Given the description of an element on the screen output the (x, y) to click on. 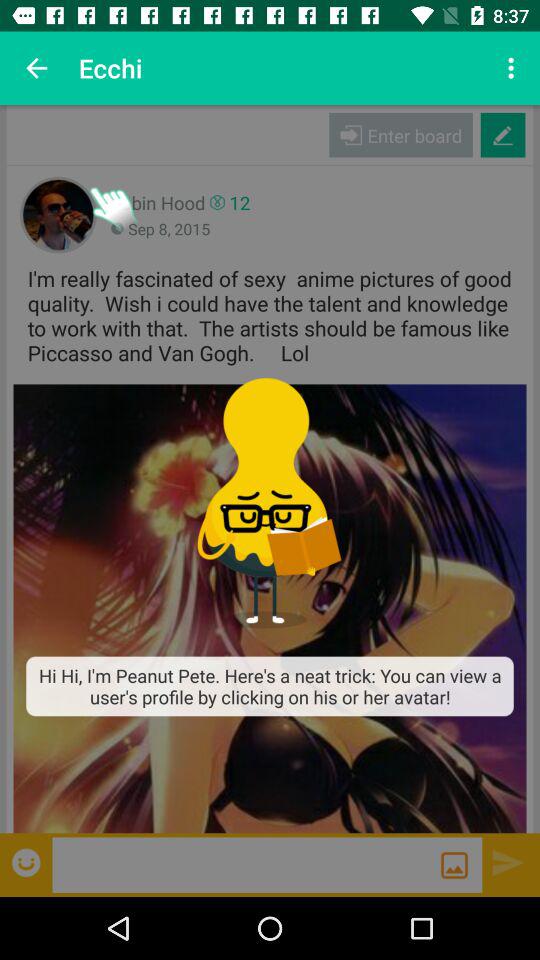
search app (246, 864)
